Given the description of an element on the screen output the (x, y) to click on. 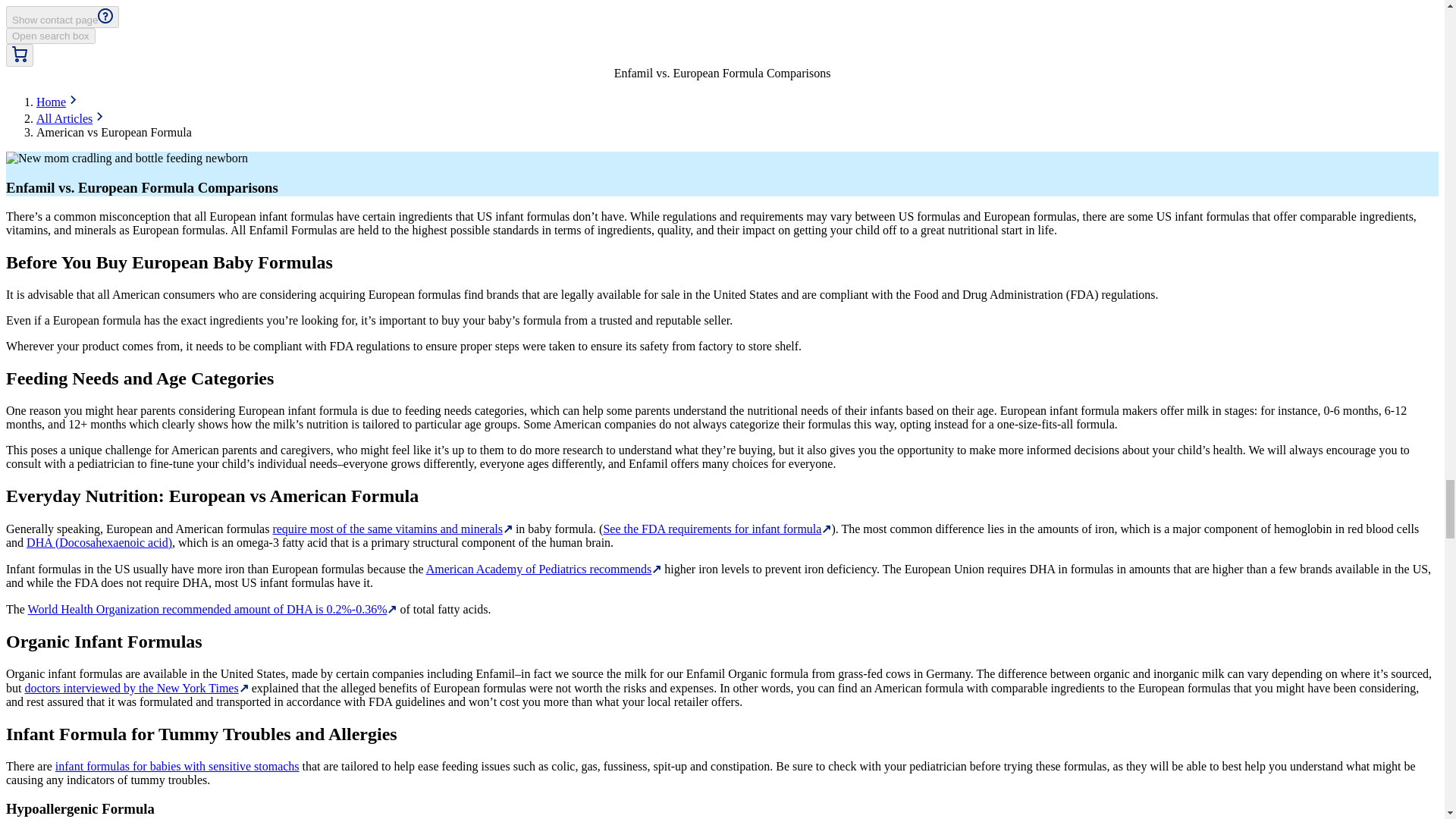
Created with Lunacy (72, 99)
Created with Lunacy (99, 115)
